Given the description of an element on the screen output the (x, y) to click on. 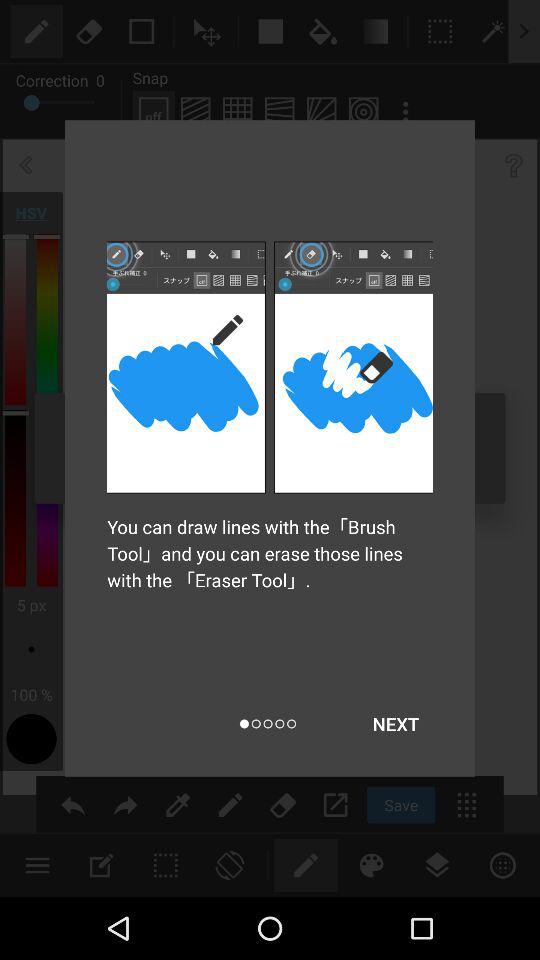
press the icon at the bottom right corner (395, 723)
